Given the description of an element on the screen output the (x, y) to click on. 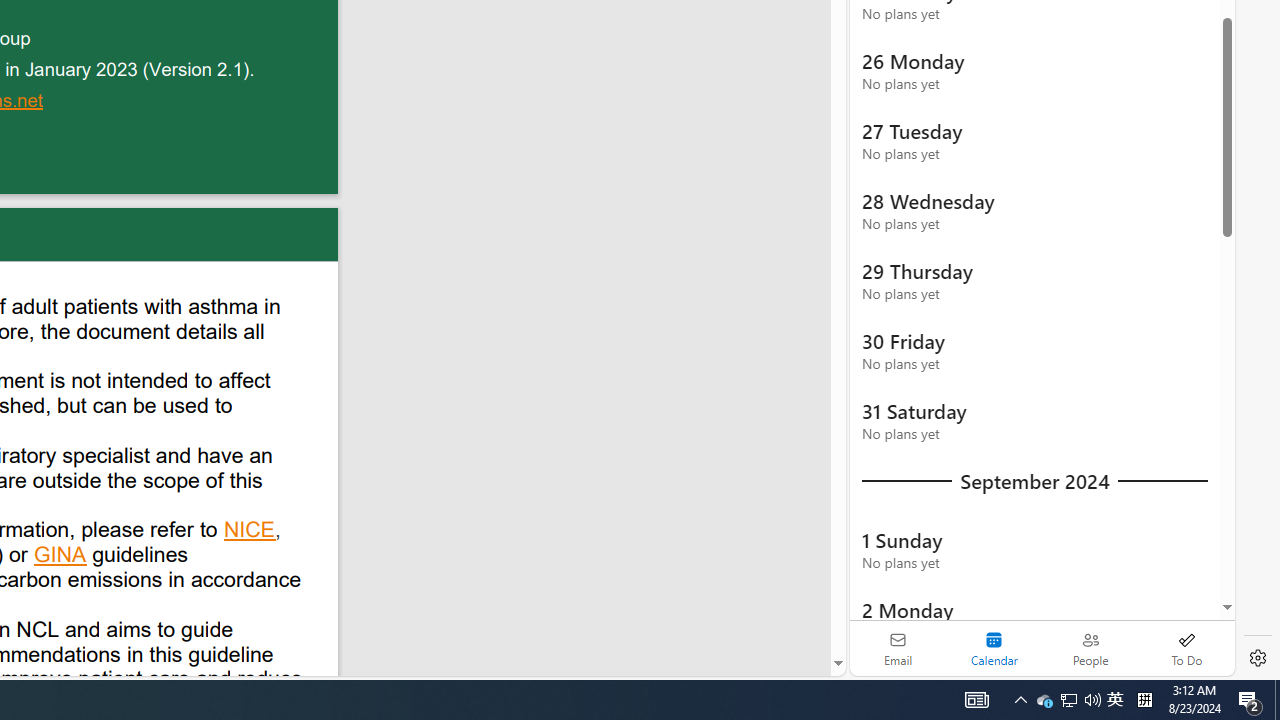
NICE (250, 532)
People (1090, 648)
Selected calendar module. Date today is 22 (994, 648)
To Do (1186, 648)
Email (898, 648)
GINA  (61, 557)
